Given the description of an element on the screen output the (x, y) to click on. 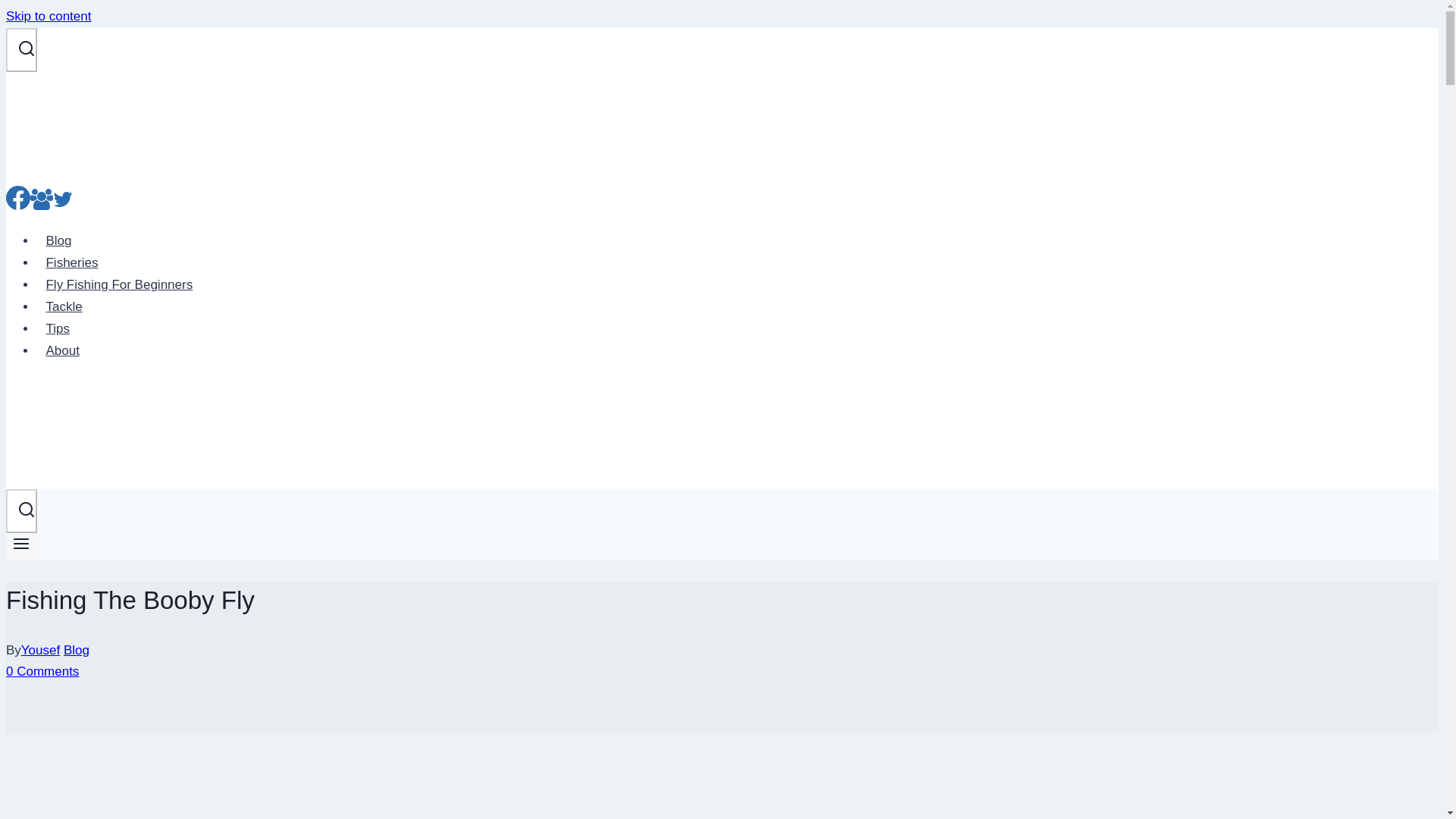
Facebook (17, 203)
Toggle Menu (22, 546)
Facebook Group (41, 199)
Facebook Group (41, 203)
Yousef (40, 649)
Blog (76, 649)
Skip to content (47, 16)
Search (25, 509)
About (62, 350)
Toggle Menu (20, 543)
